Given the description of an element on the screen output the (x, y) to click on. 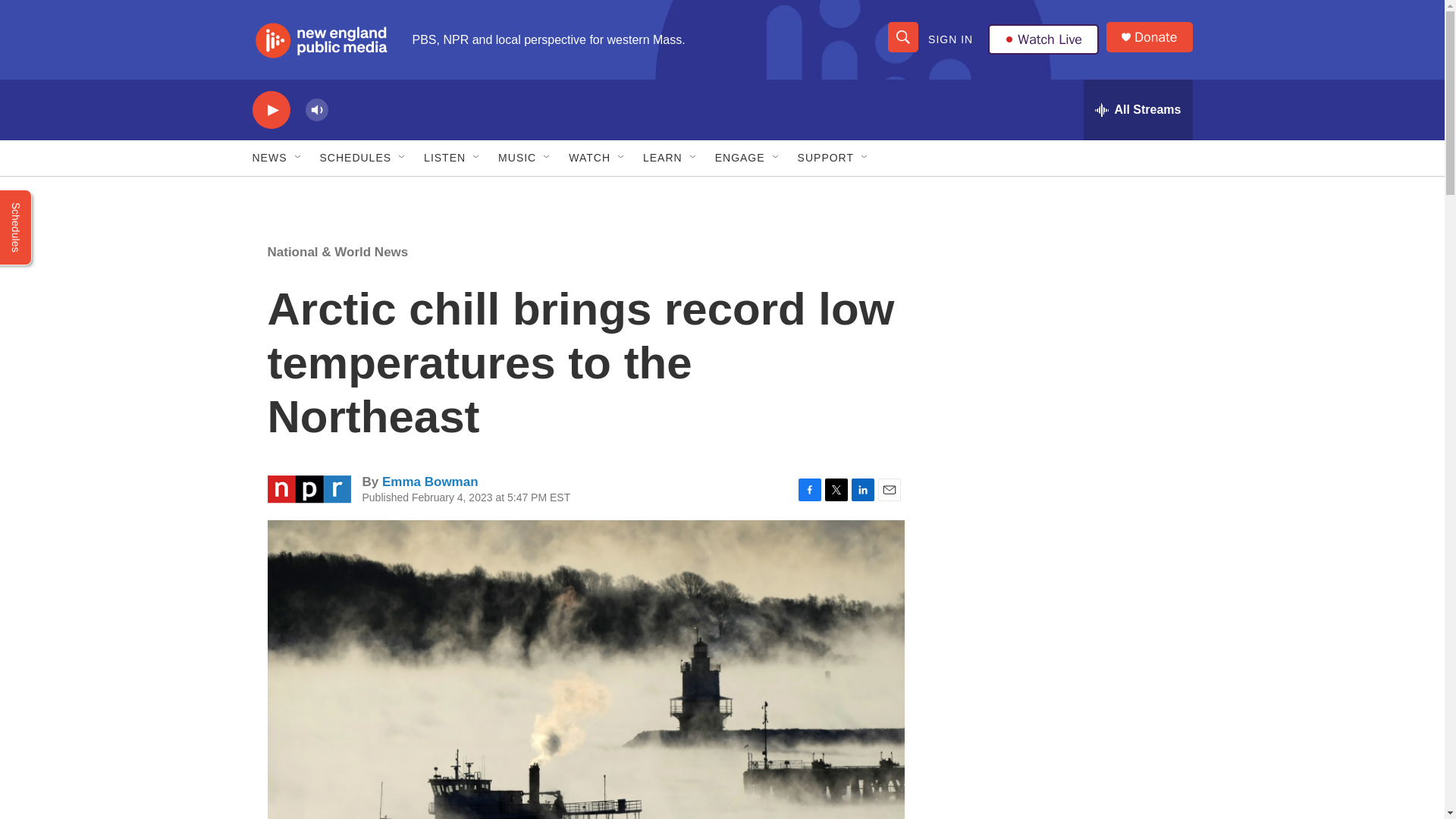
3rd party ad content (1062, 552)
3rd party ad content (1062, 331)
